Given the description of an element on the screen output the (x, y) to click on. 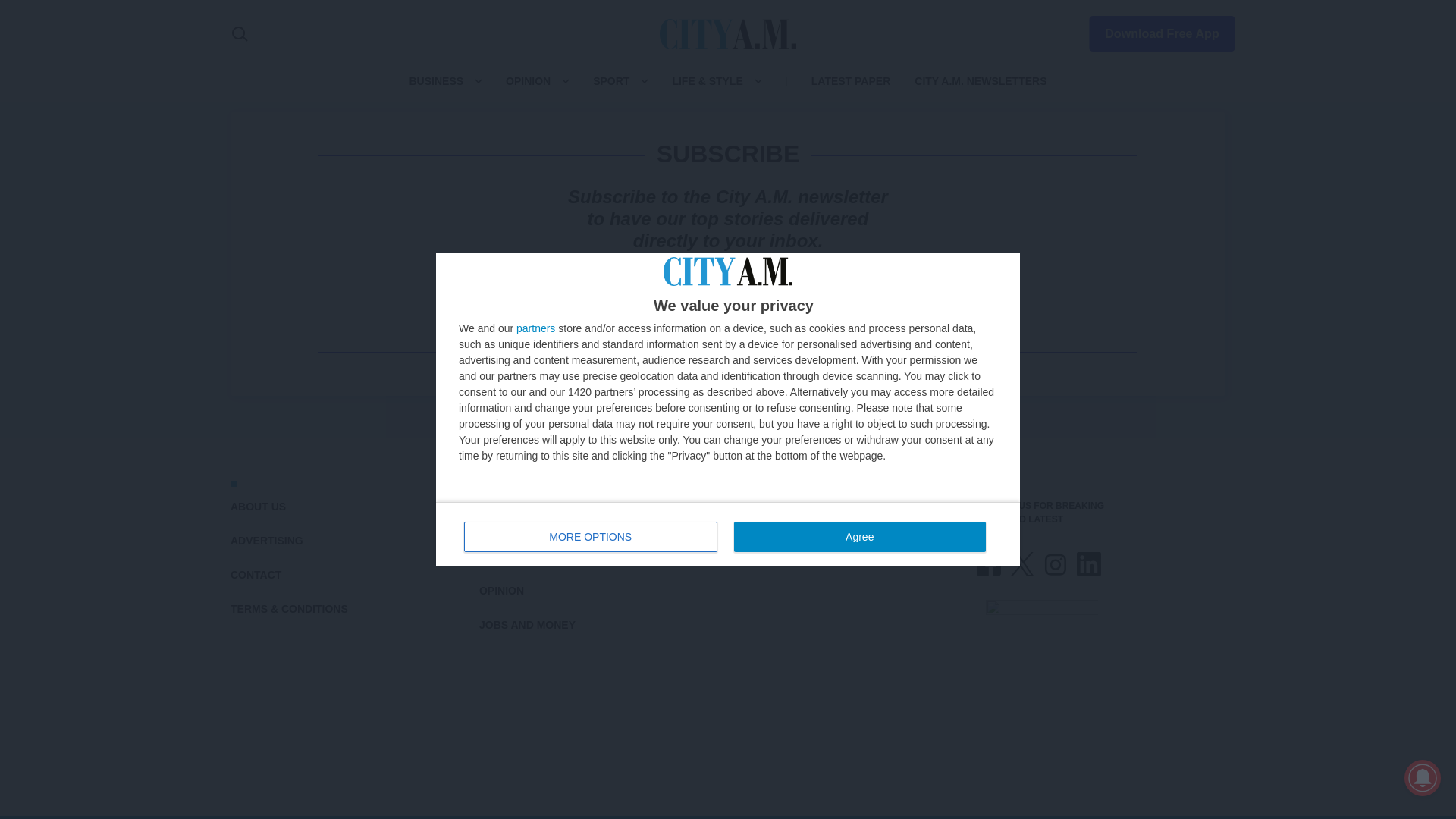
FACEBOOK (988, 564)
X (1021, 564)
LINKEDIN (1088, 564)
INSTAGRAM (1055, 564)
